Given the description of an element on the screen output the (x, y) to click on. 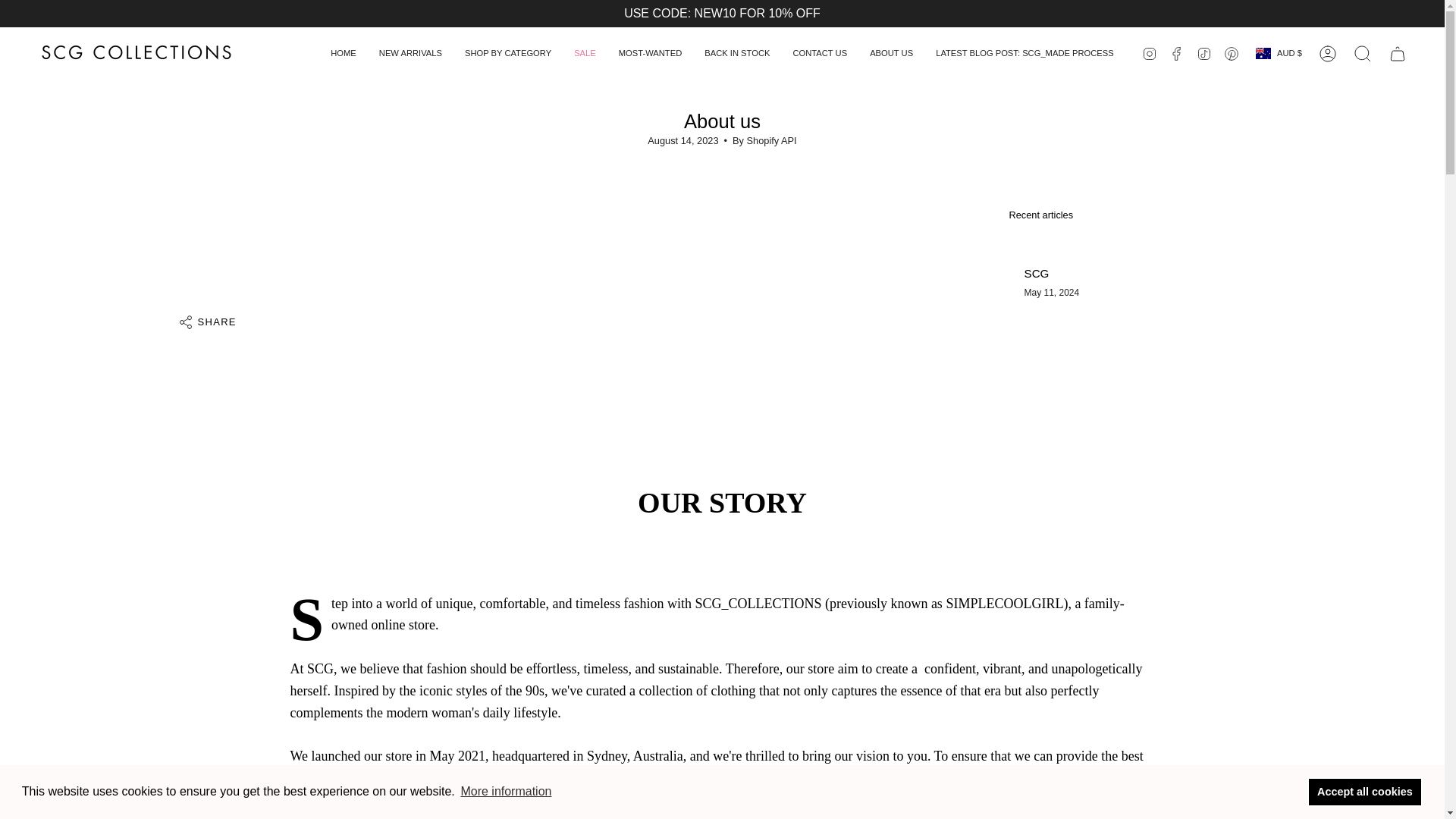
SCG (1035, 273)
My Account (1327, 53)
Cart (1397, 53)
More information (505, 791)
Search (1362, 53)
Accept all cookies (1365, 791)
